Given the description of an element on the screen output the (x, y) to click on. 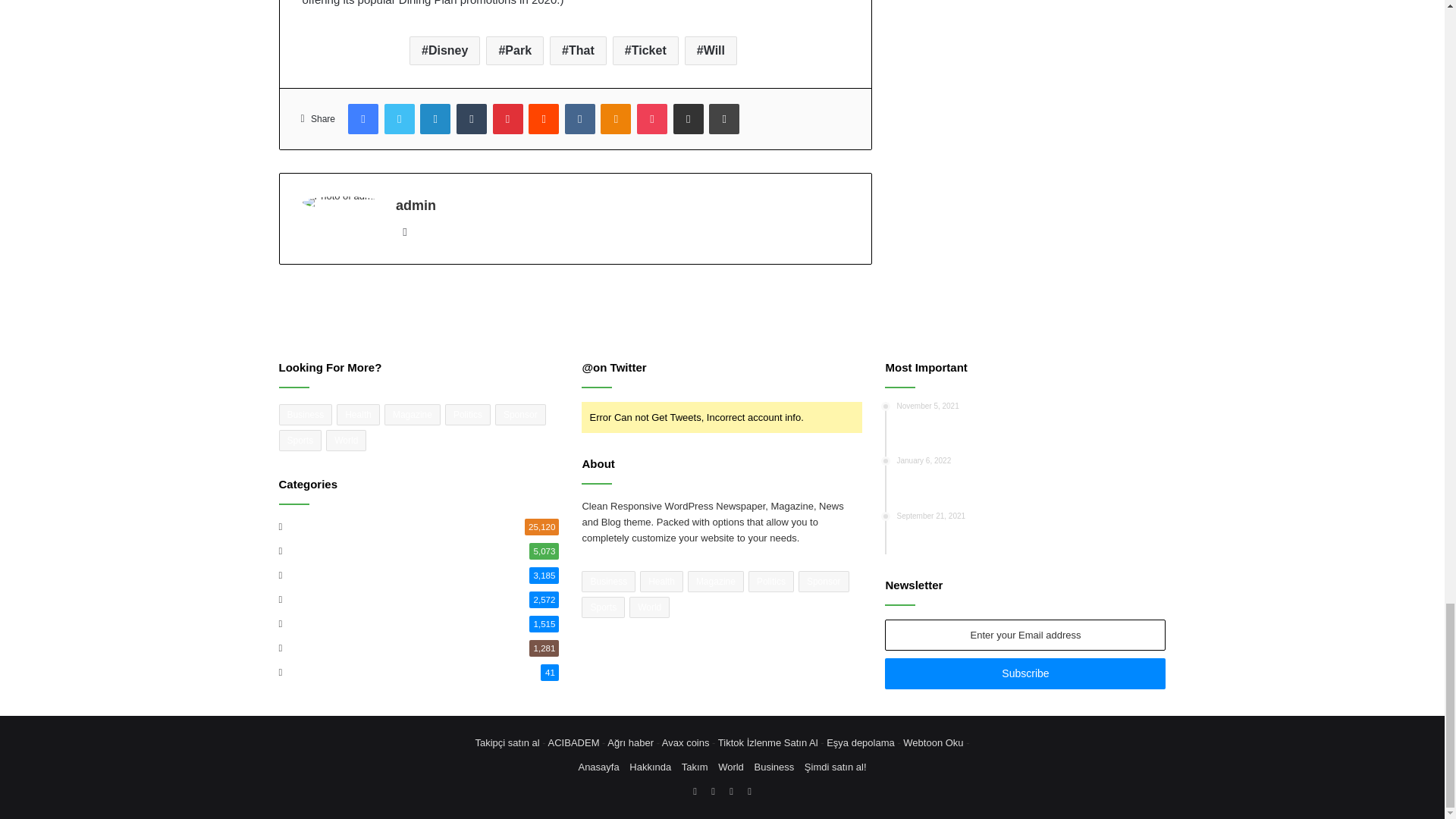
That (578, 50)
Disney (444, 50)
Ticket (645, 50)
Park (514, 50)
Subscribe (1025, 673)
